Given the description of an element on the screen output the (x, y) to click on. 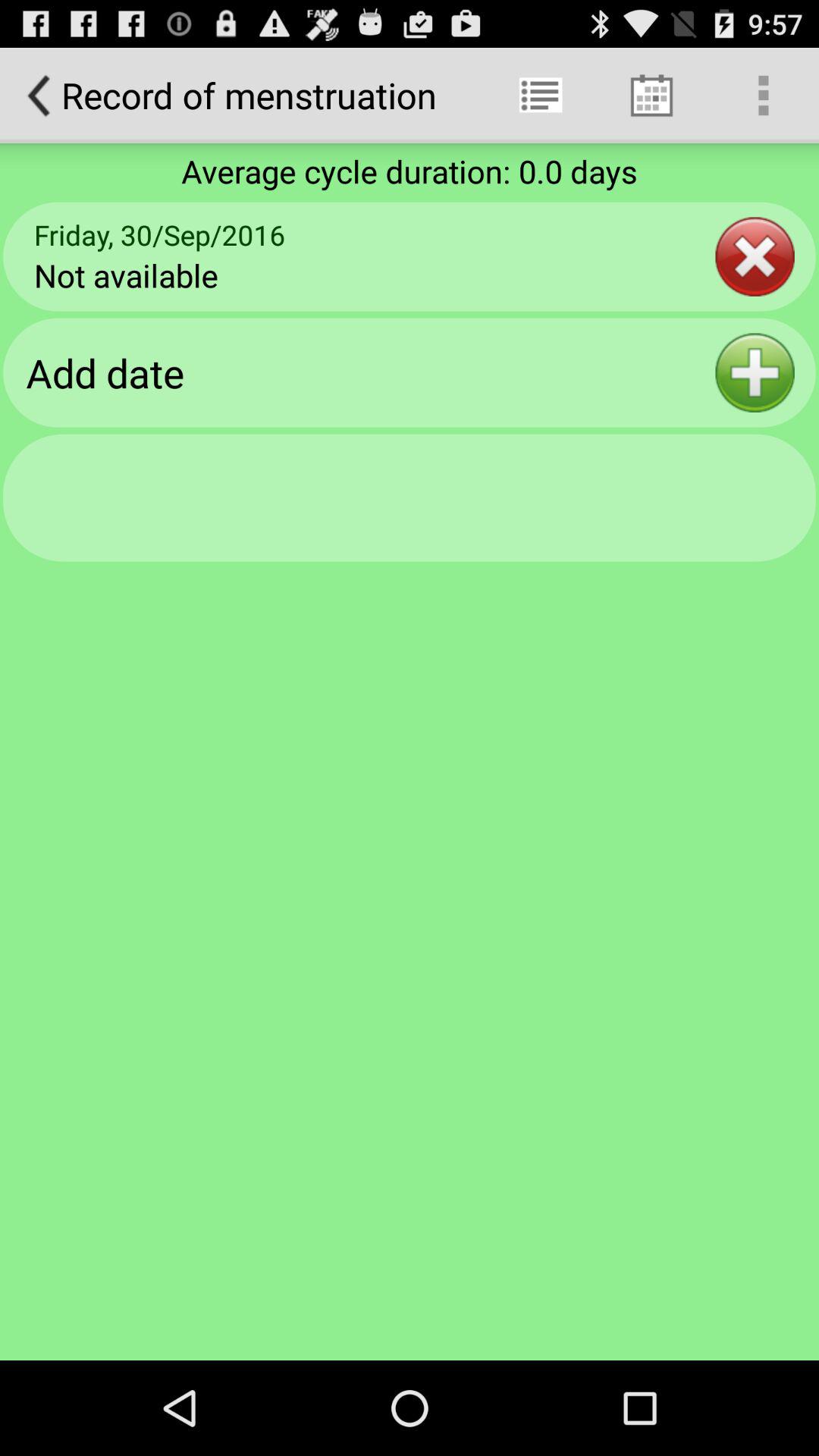
add the date what we want for record (754, 372)
